Given the description of an element on the screen output the (x, y) to click on. 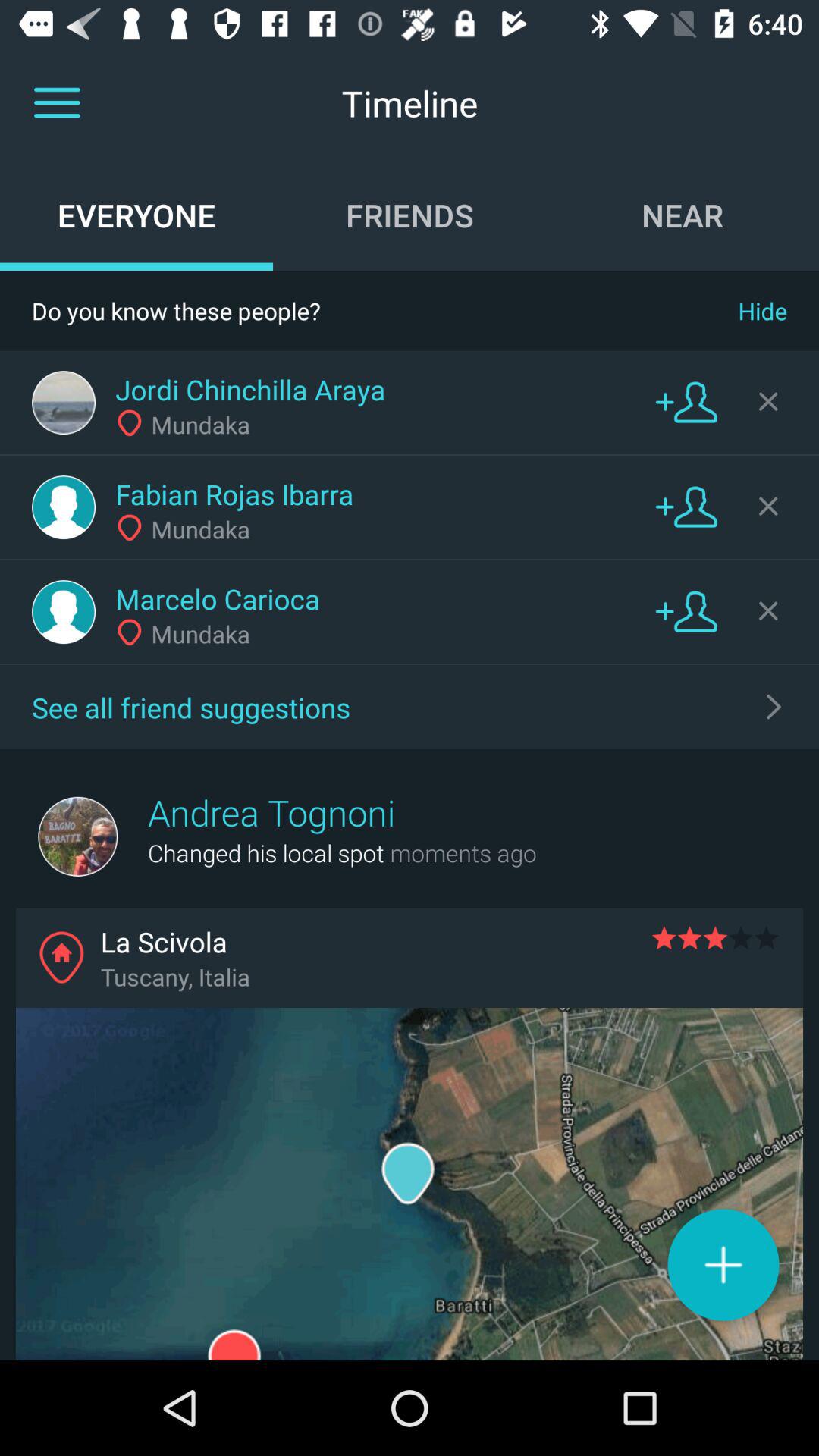
view profile (63, 402)
